Given the description of an element on the screen output the (x, y) to click on. 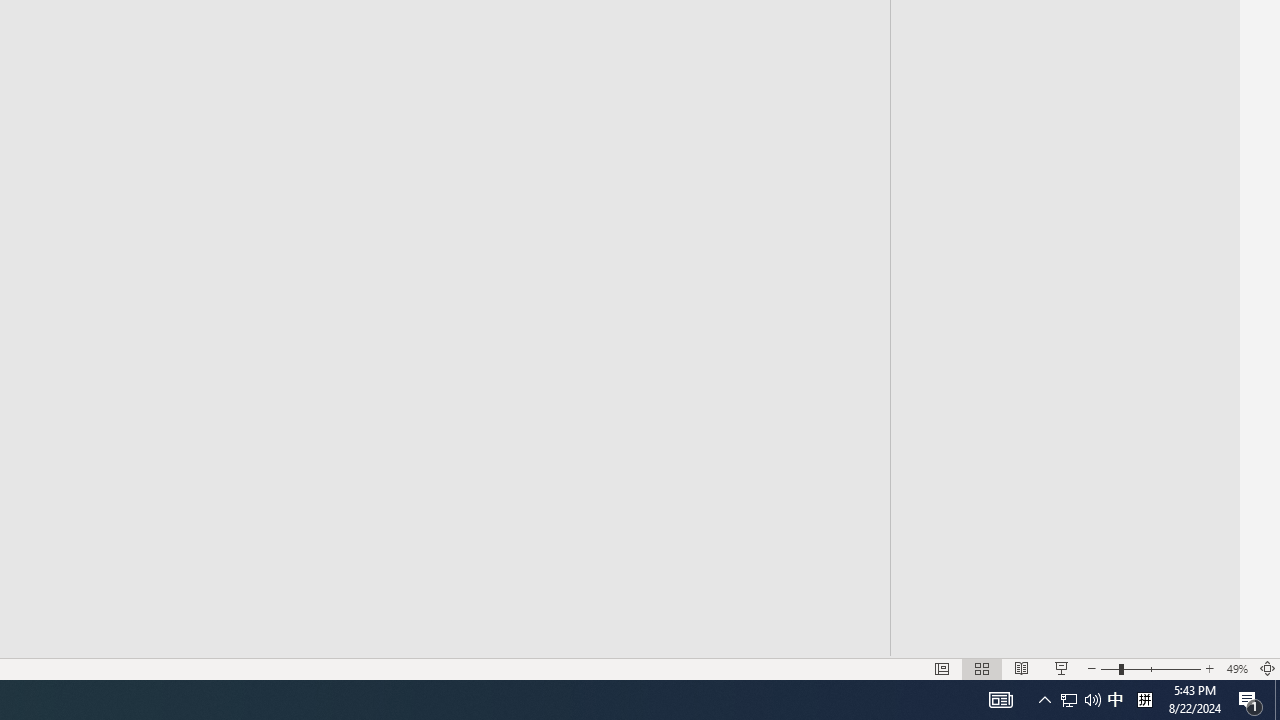
Zoom 49% (1236, 668)
